Given the description of an element on the screen output the (x, y) to click on. 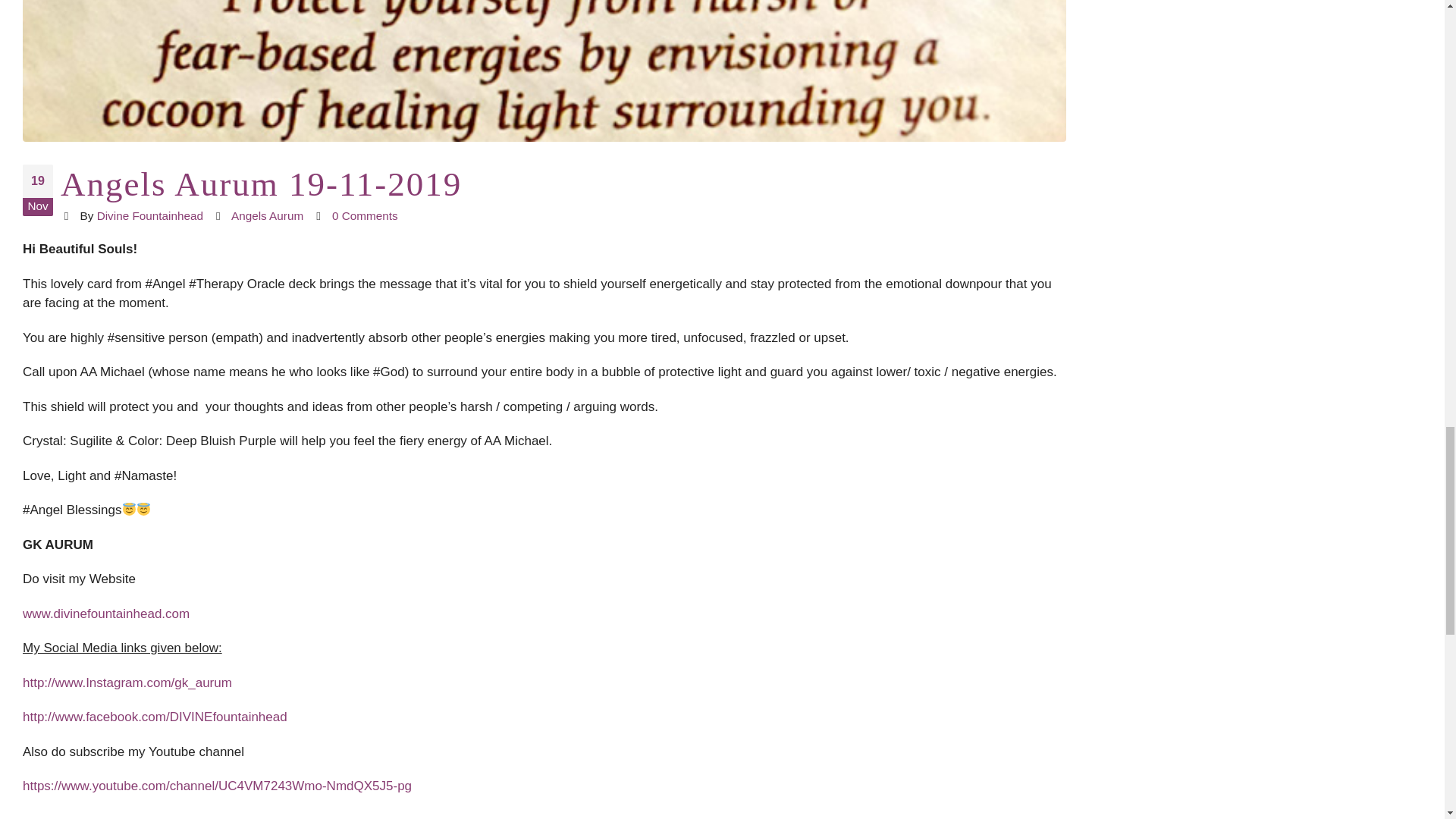
Posts by Divine Fountainhead (150, 215)
www.divinefountainhead.com (106, 613)
Divine Fountainhead (150, 215)
0 Comments (364, 215)
Angels Aurum (266, 215)
0 Comments (364, 215)
